Given the description of an element on the screen output the (x, y) to click on. 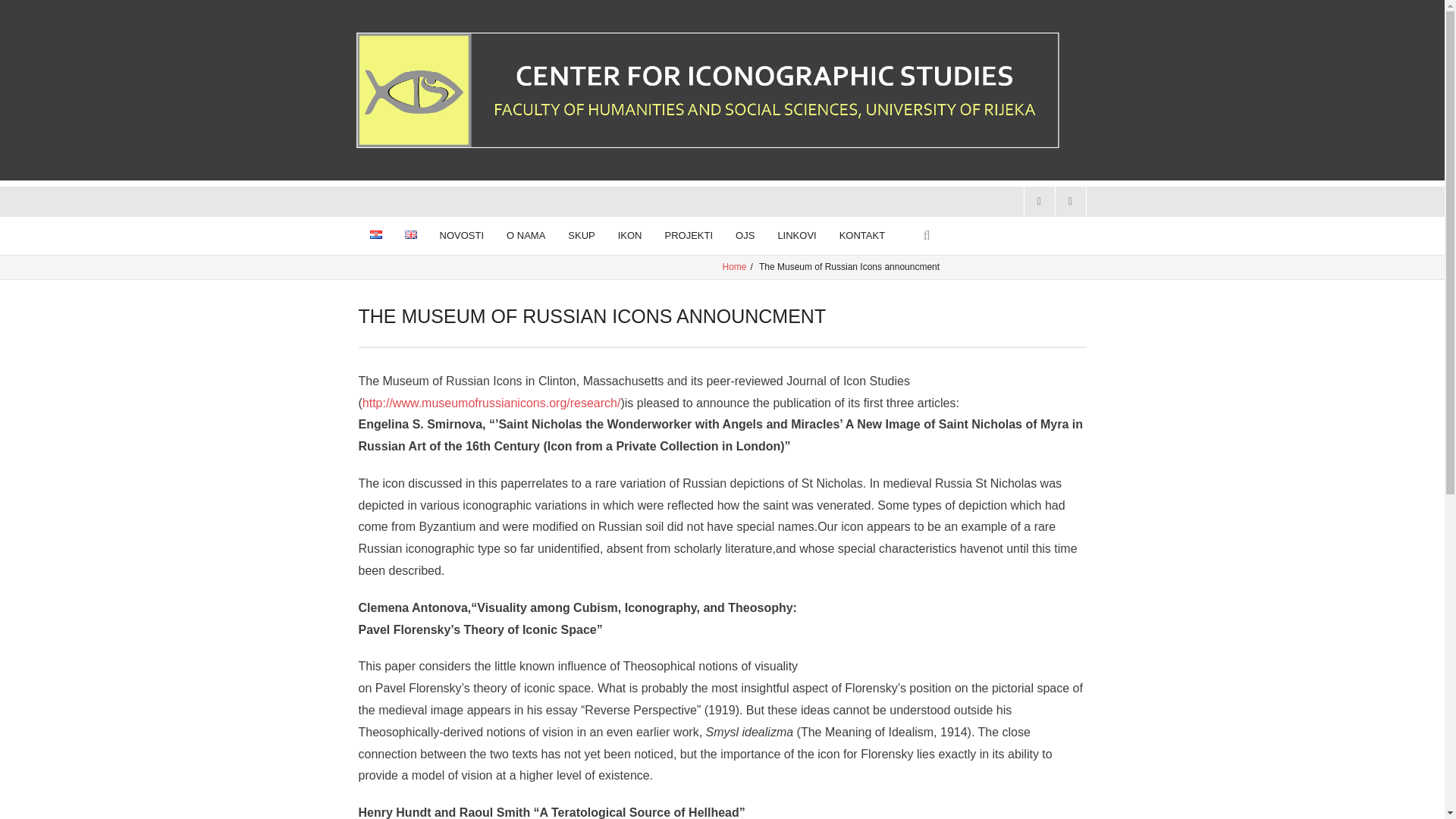
NOVOSTI (461, 235)
English (410, 234)
SKUP (580, 235)
Hrvatski (375, 234)
O NAMA (525, 235)
